Given the description of an element on the screen output the (x, y) to click on. 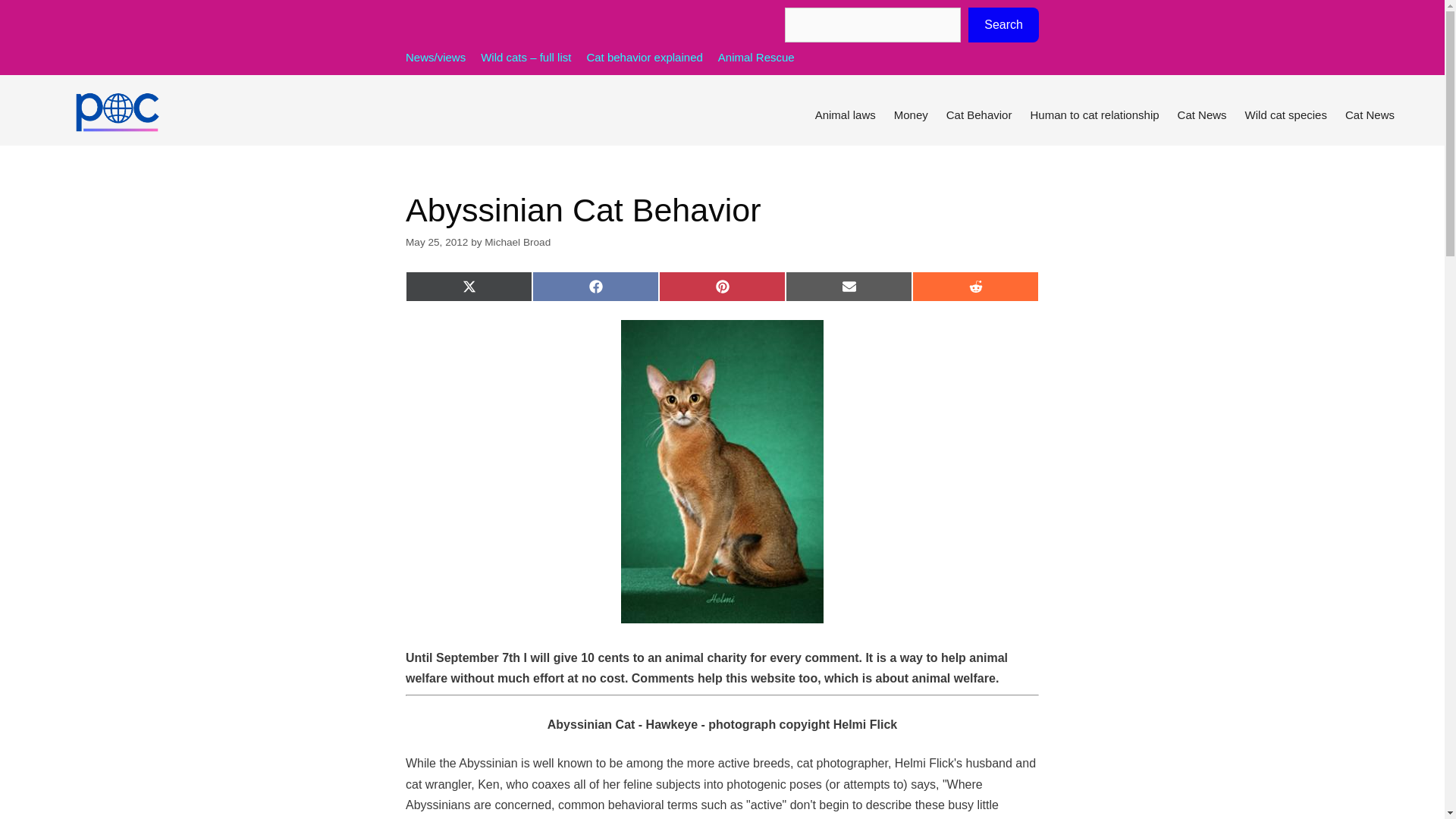
Share on Email (849, 286)
Share on Reddit (975, 286)
Cat News (1202, 115)
Cat behavior explained (643, 56)
Animal Rescue (755, 56)
Michael Broad (517, 242)
Human to cat relationship (1093, 115)
Cat News (1369, 115)
Search (1003, 24)
Wild cat species (1286, 115)
